Given the description of an element on the screen output the (x, y) to click on. 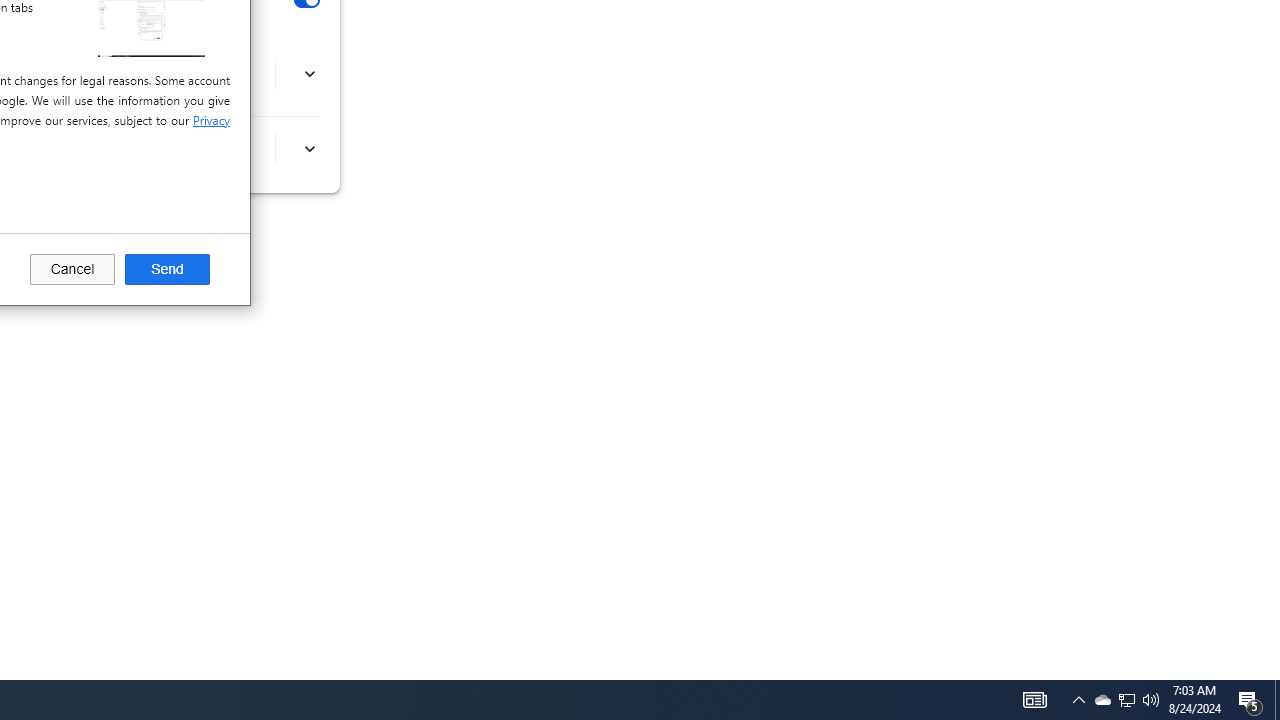
User Promoted Notification Area (1126, 699)
Send (167, 269)
Notification Chevron (1102, 699)
Q2790: 100% (1078, 699)
Show desktop (1126, 699)
 More info about turning on extended preloading (1151, 699)
 More info about turning on standard preloading (1277, 699)
Cancel (308, 74)
AutomationID: 4105 (308, 149)
Action Center, 5 new notifications (72, 269)
